Given the description of an element on the screen output the (x, y) to click on. 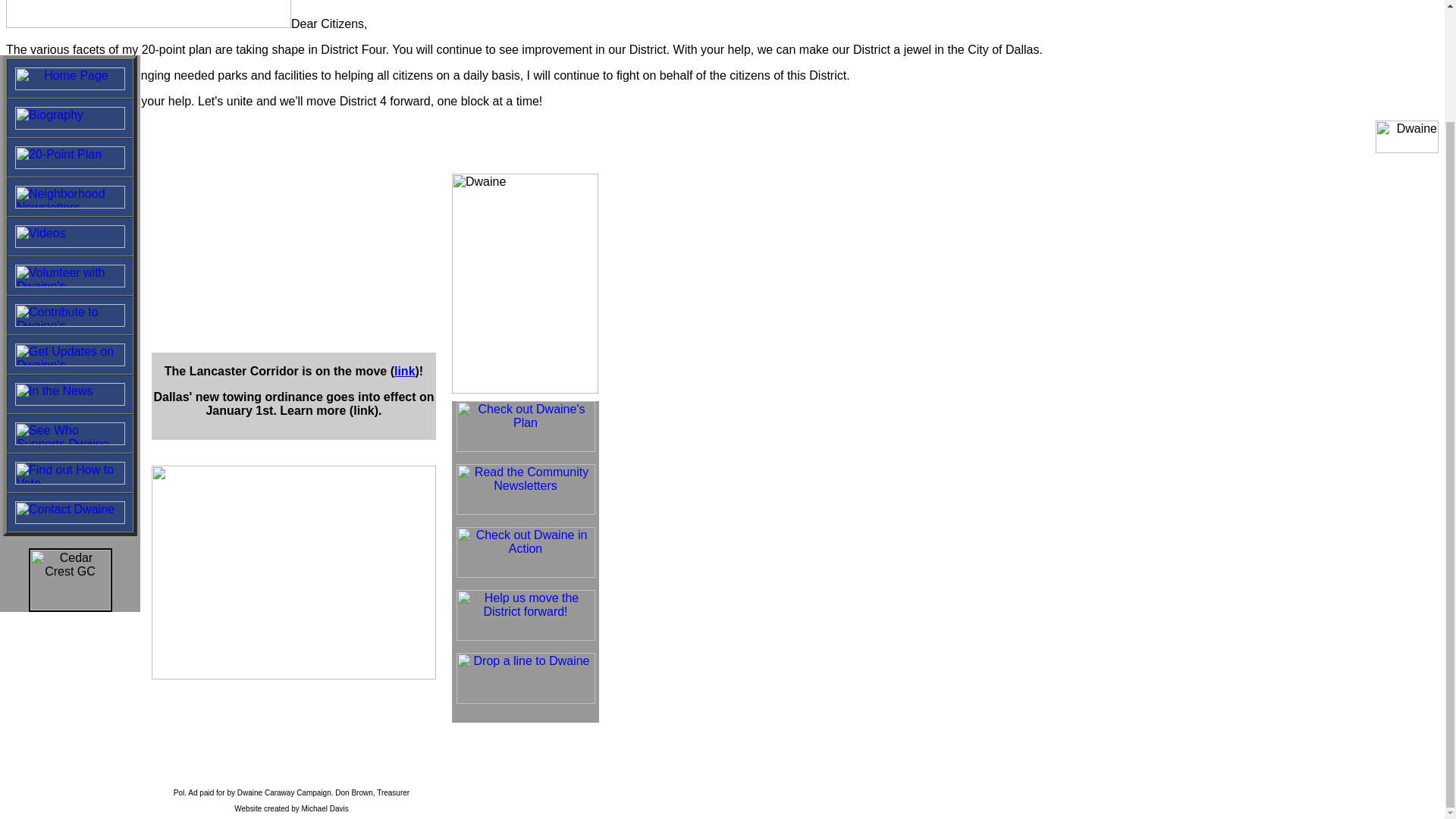
link (404, 370)
